Given the description of an element on the screen output the (x, y) to click on. 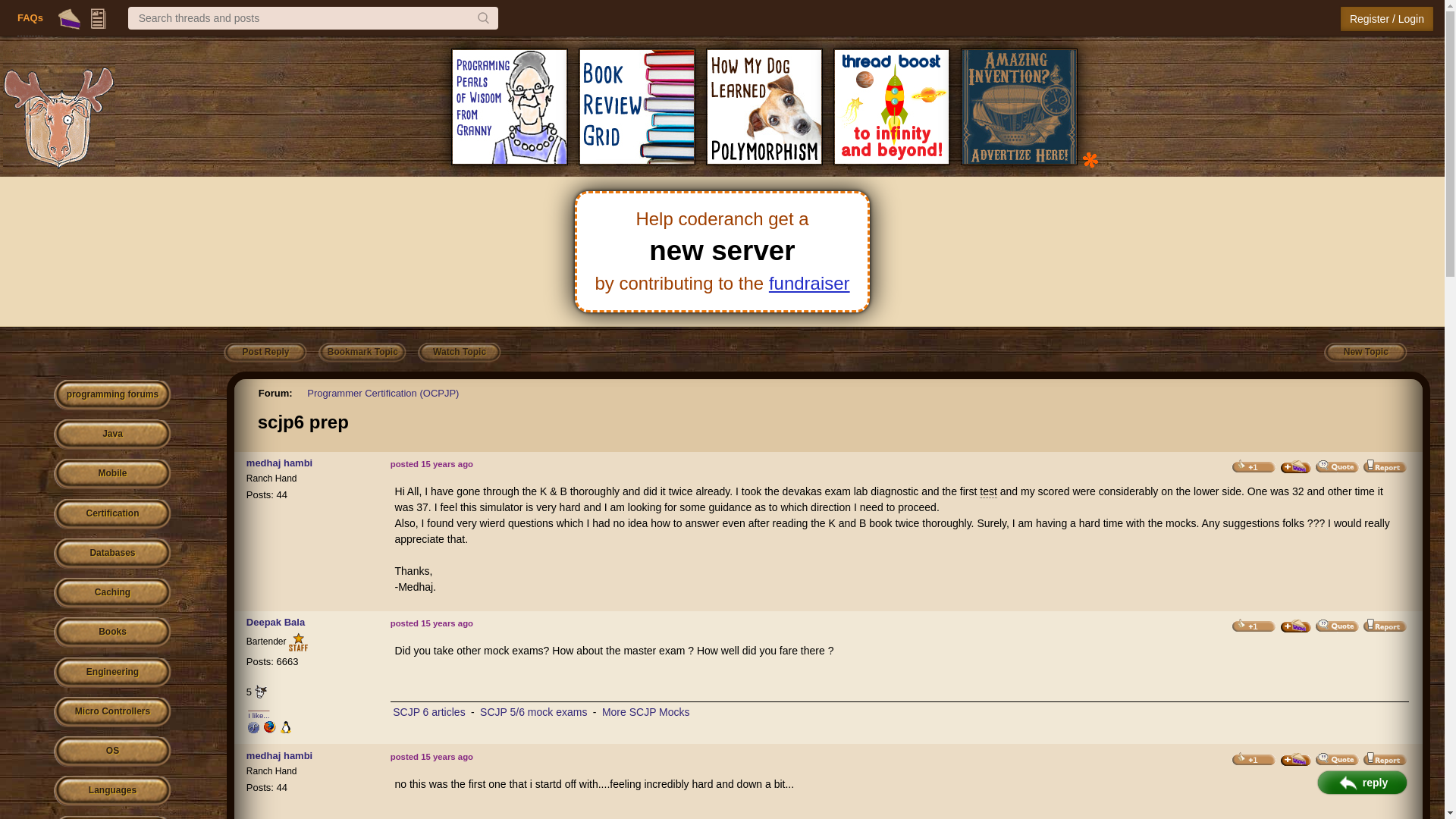
Books (112, 632)
Engineering (112, 672)
Mobile (112, 473)
fundraiser (809, 282)
Databases (112, 553)
programming forums (112, 395)
Certification (112, 513)
Java (112, 434)
You must log in or register to be able to create a new topic (1365, 352)
